Given the description of an element on the screen output the (x, y) to click on. 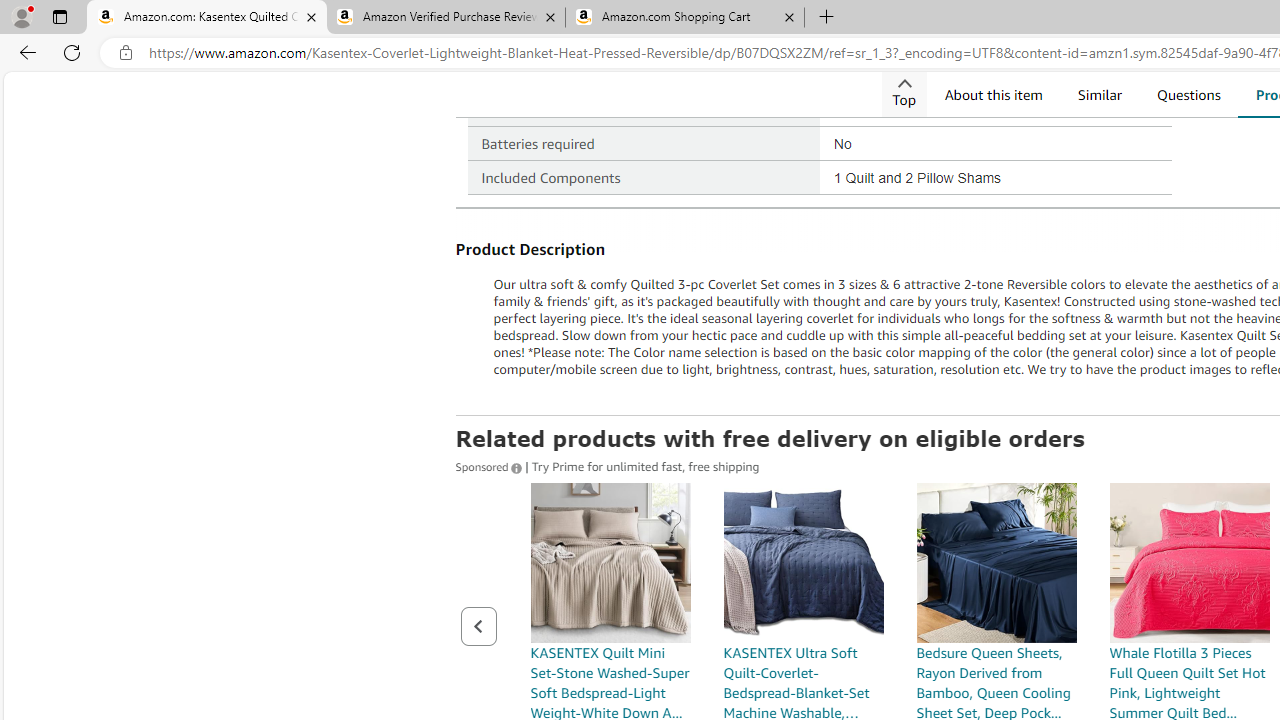
Top (903, 94)
Sponsored  (490, 465)
Amazon Verified Purchase Reviews - Amazon Customer Service (445, 17)
Similar (1099, 94)
Questions (1188, 94)
